Given the description of an element on the screen output the (x, y) to click on. 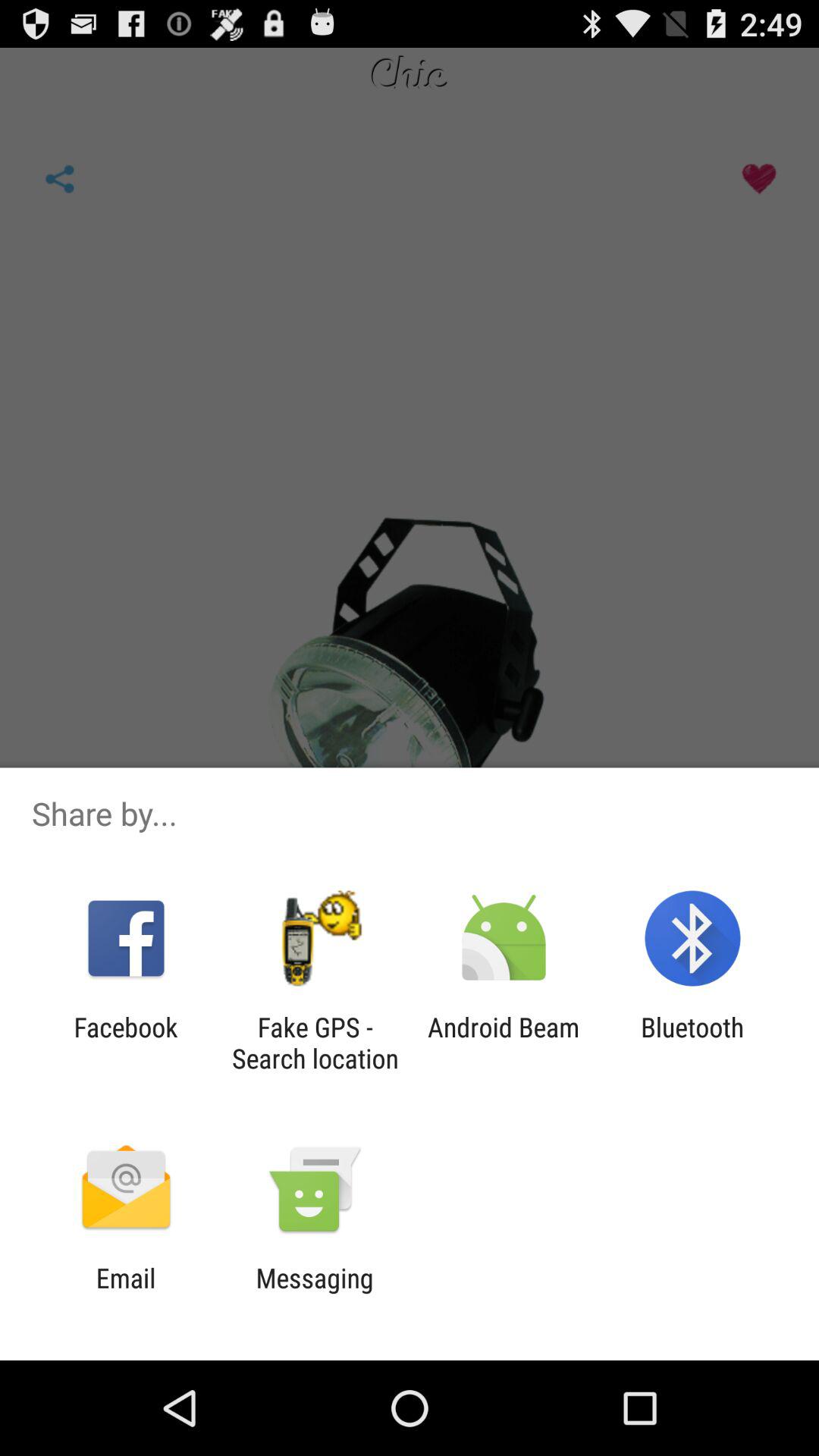
open icon to the right of the android beam app (691, 1042)
